Given the description of an element on the screen output the (x, y) to click on. 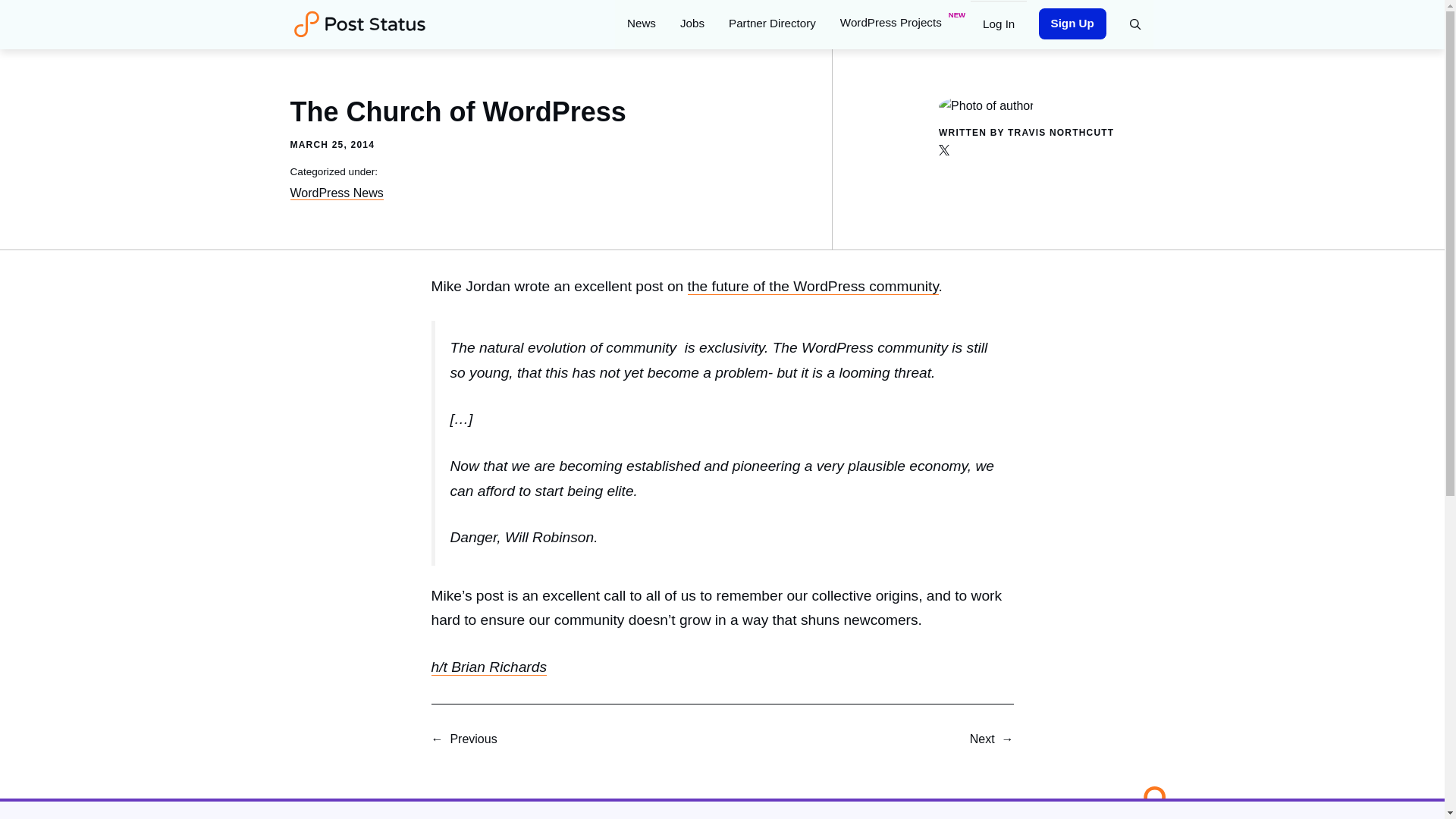
WordPress News (335, 192)
the future of the WordPress community (813, 286)
Sign Up (1072, 22)
Post Status Icon (1144, 801)
Next (981, 738)
Jobs (692, 22)
Previous (472, 738)
Partner Directory (772, 22)
WordPress Projects (899, 23)
Log In (998, 22)
News (641, 22)
